Given the description of an element on the screen output the (x, y) to click on. 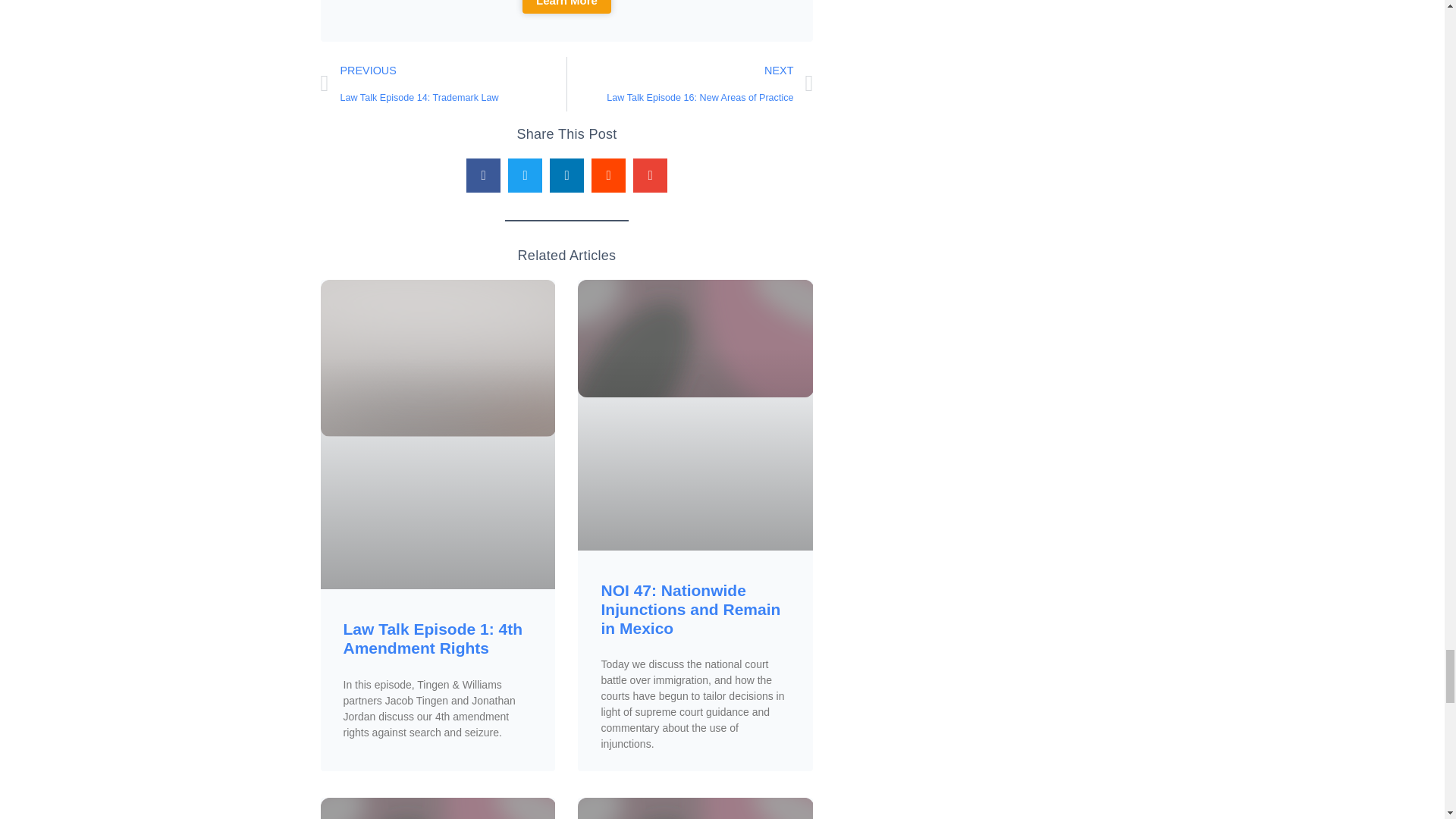
Learn More (566, 6)
Law Talk Episode 1: 4th Amendment Rights (432, 637)
NOI 47: Nationwide Injunctions and Remain in Mexico (693, 83)
